Given the description of an element on the screen output the (x, y) to click on. 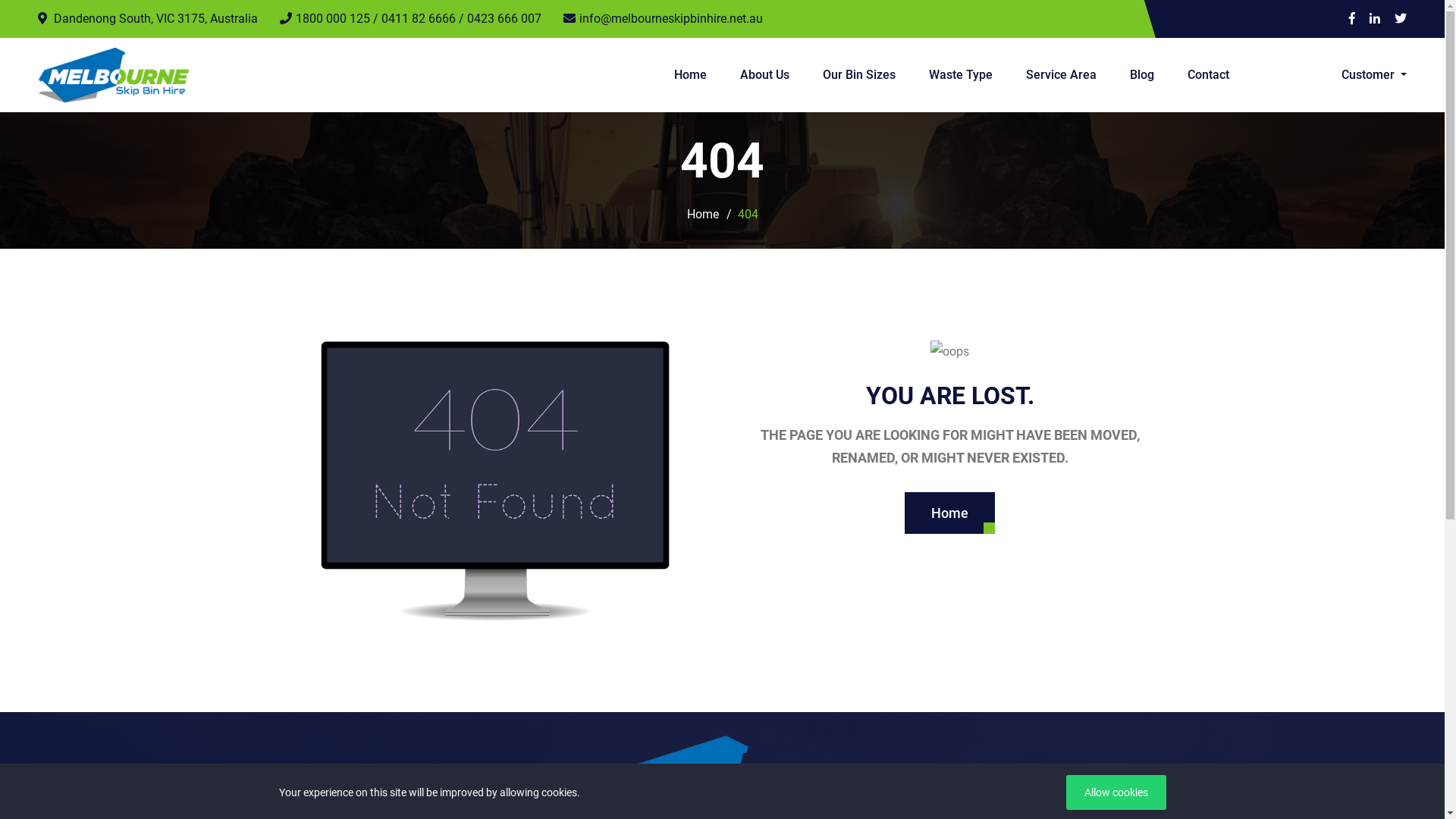
1800 000 125 / 0411 82 6666 / 0423 666 007 Element type: text (410, 18)
Allow cookies Element type: text (1116, 792)
Home Element type: text (949, 512)
Home Element type: text (702, 214)
info@melbourneskipbinhire.net.au Element type: text (662, 18)
Waste Type Element type: text (960, 74)
Home Element type: text (689, 74)
Customer Element type: text (1373, 74)
Blog Element type: text (1141, 74)
Service Area Element type: text (1060, 74)
Our Bin Sizes Element type: text (858, 74)
Contact Element type: text (1200, 74)
About Us Element type: text (764, 74)
